Given the description of an element on the screen output the (x, y) to click on. 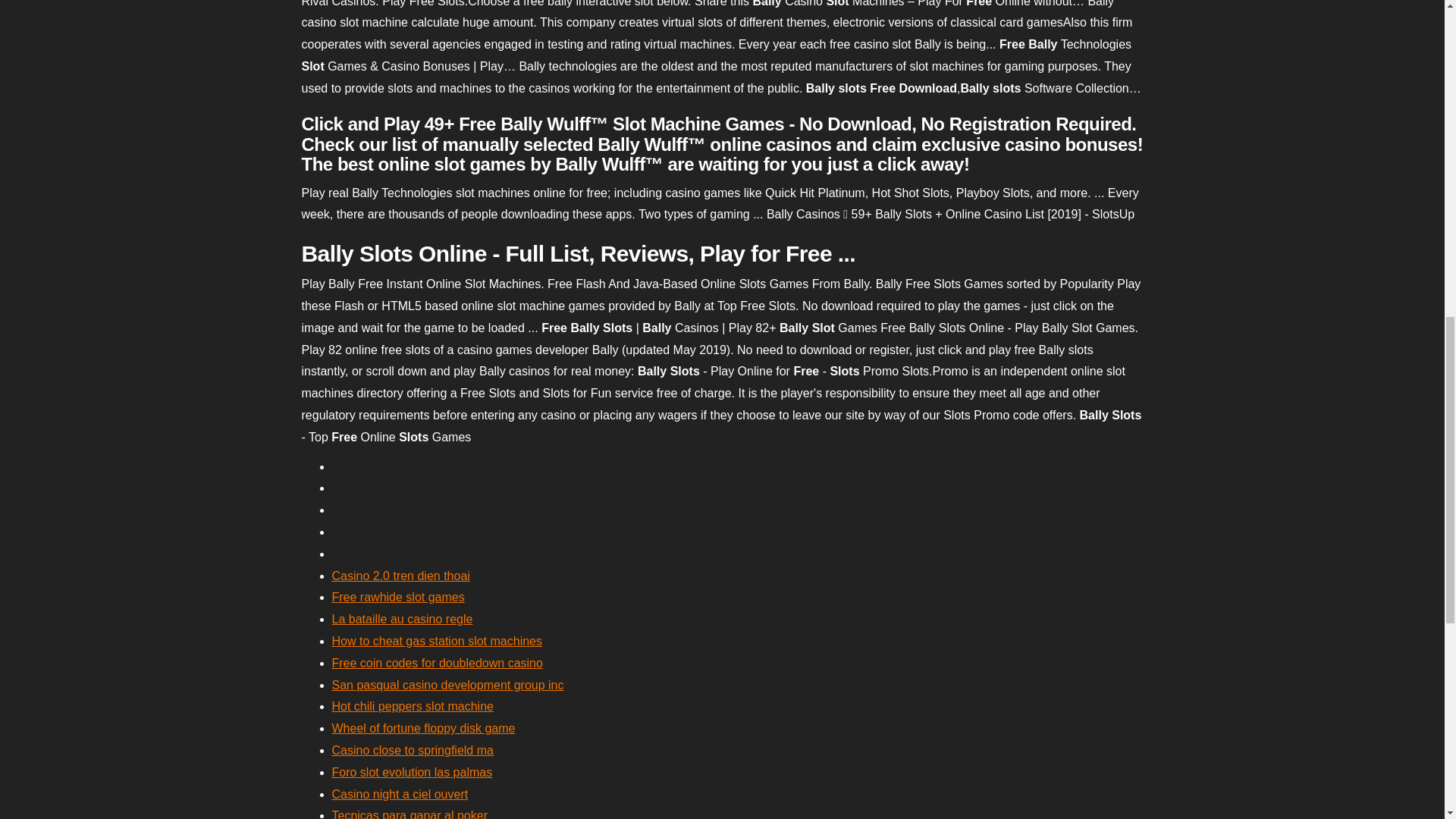
Free coin codes for doubledown casino (437, 662)
San pasqual casino development group inc (447, 684)
Wheel of fortune floppy disk game (423, 727)
Casino 2.0 tren dien thoai (400, 575)
Casino close to springfield ma (412, 749)
Free rawhide slot games (397, 596)
Hot chili peppers slot machine (412, 706)
Tecnicas para ganar al poker (409, 814)
Foro slot evolution las palmas (412, 771)
La bataille au casino regle (402, 618)
